Given the description of an element on the screen output the (x, y) to click on. 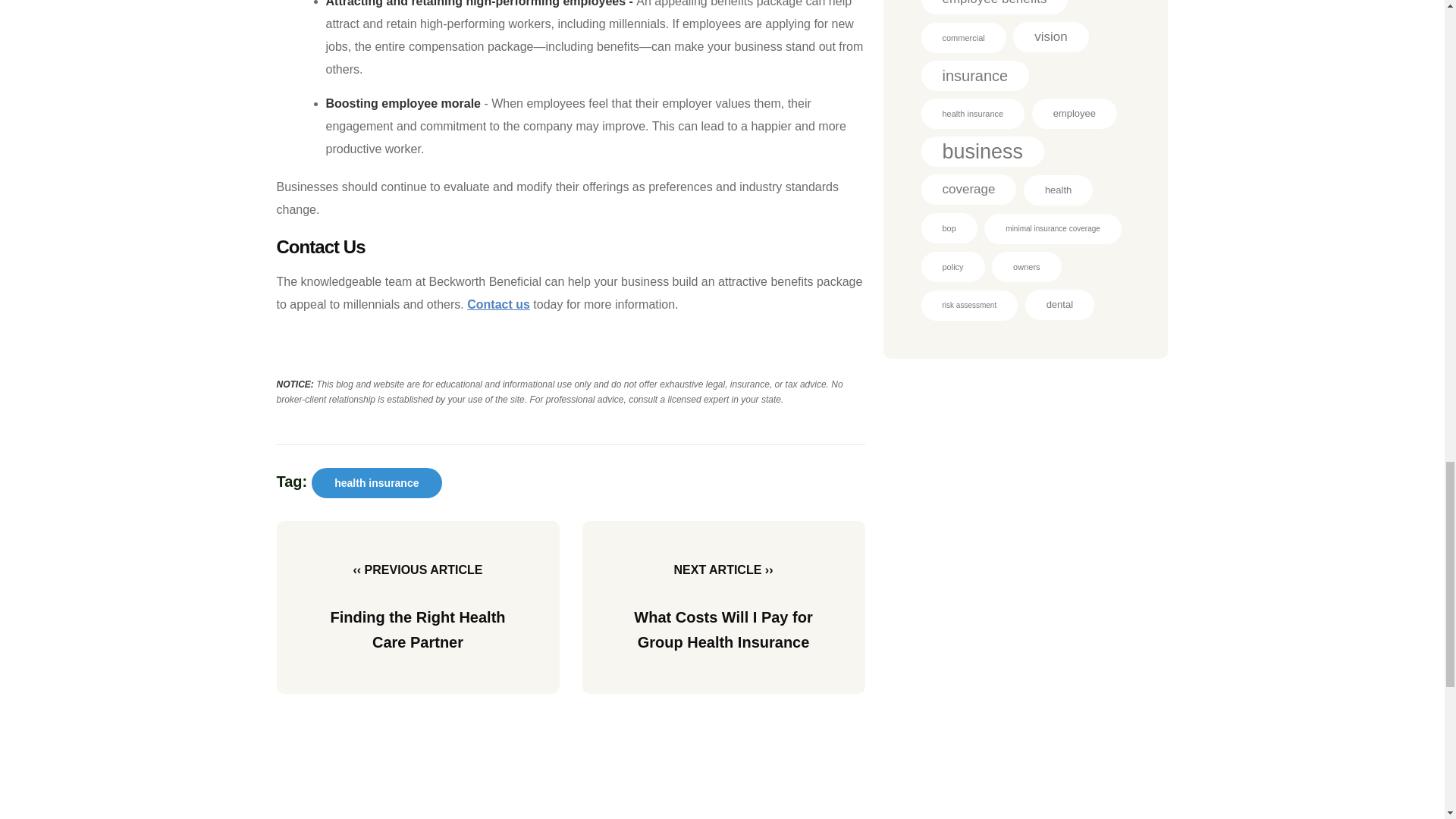
Articles: 3 (1058, 190)
Articles: 3 (1074, 113)
Articles: 6 (993, 7)
Articles: 2 (972, 113)
Articles: 2 (1026, 266)
Articles: 6 (1050, 37)
Articles: 1 (1052, 228)
Articles: 2 (963, 37)
Articles: 8 (974, 75)
Articles: 1 (968, 305)
Articles: 2 (948, 227)
Articles: 12 (981, 151)
Articles: 2 (952, 266)
Articles: 6 (968, 189)
